Given the description of an element on the screen output the (x, y) to click on. 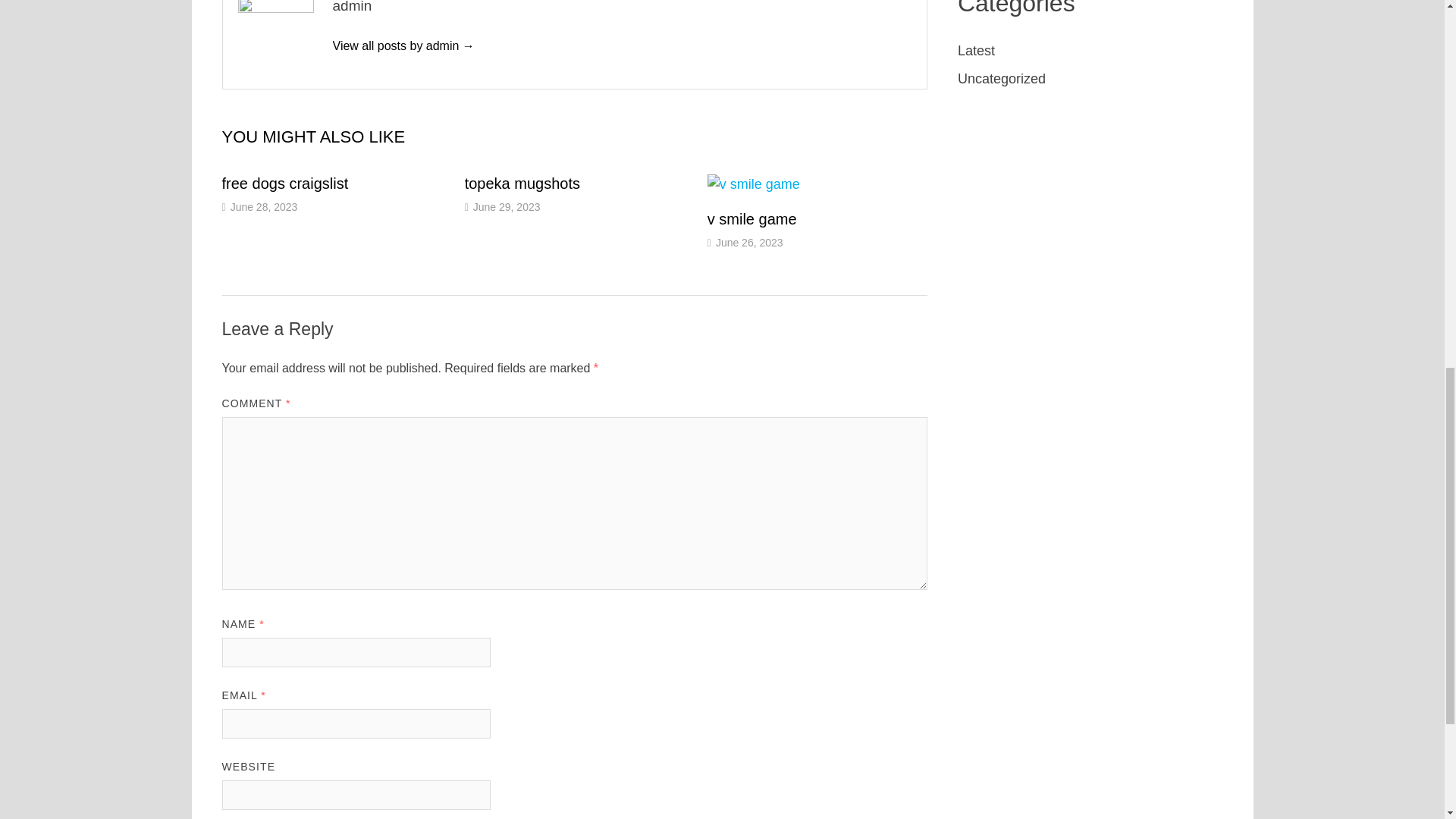
Latest (976, 50)
June 29, 2023 (506, 205)
topeka mugshots (521, 182)
admin (402, 45)
free dogs craigslist (284, 182)
June 26, 2023 (749, 242)
June 28, 2023 (264, 205)
v smile game (751, 218)
free dogs craigslist (284, 182)
Uncategorized (1001, 78)
topeka mugshots (521, 182)
v smile game (751, 218)
